Given the description of an element on the screen output the (x, y) to click on. 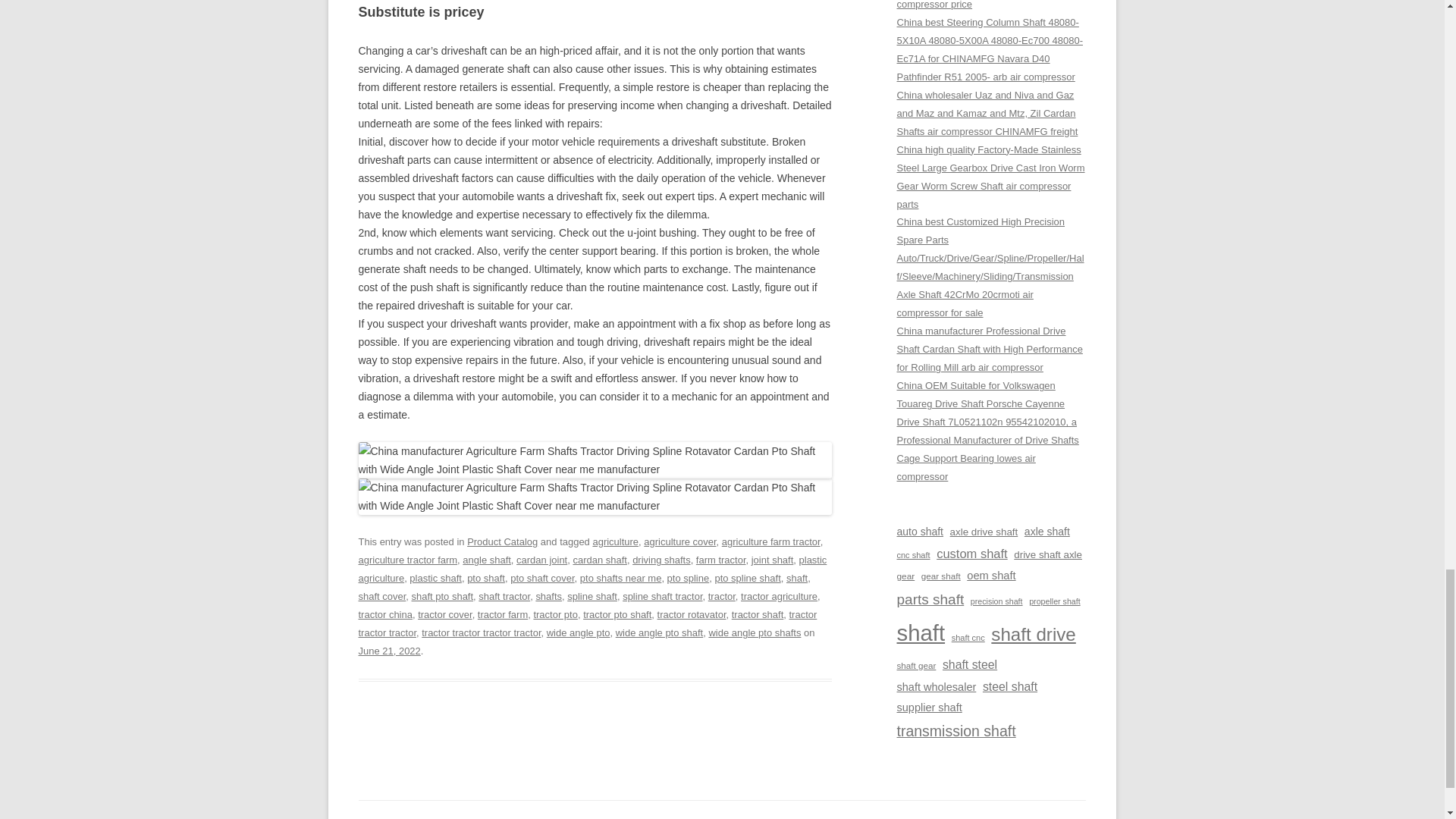
driving shafts (660, 559)
farm tractor (720, 559)
shafts (548, 595)
spline shaft (592, 595)
tractor rotavator (692, 614)
cardan shaft (599, 559)
shaft (797, 577)
agriculture tractor farm (407, 559)
agriculture cover (679, 541)
tractor cover (444, 614)
